Given the description of an element on the screen output the (x, y) to click on. 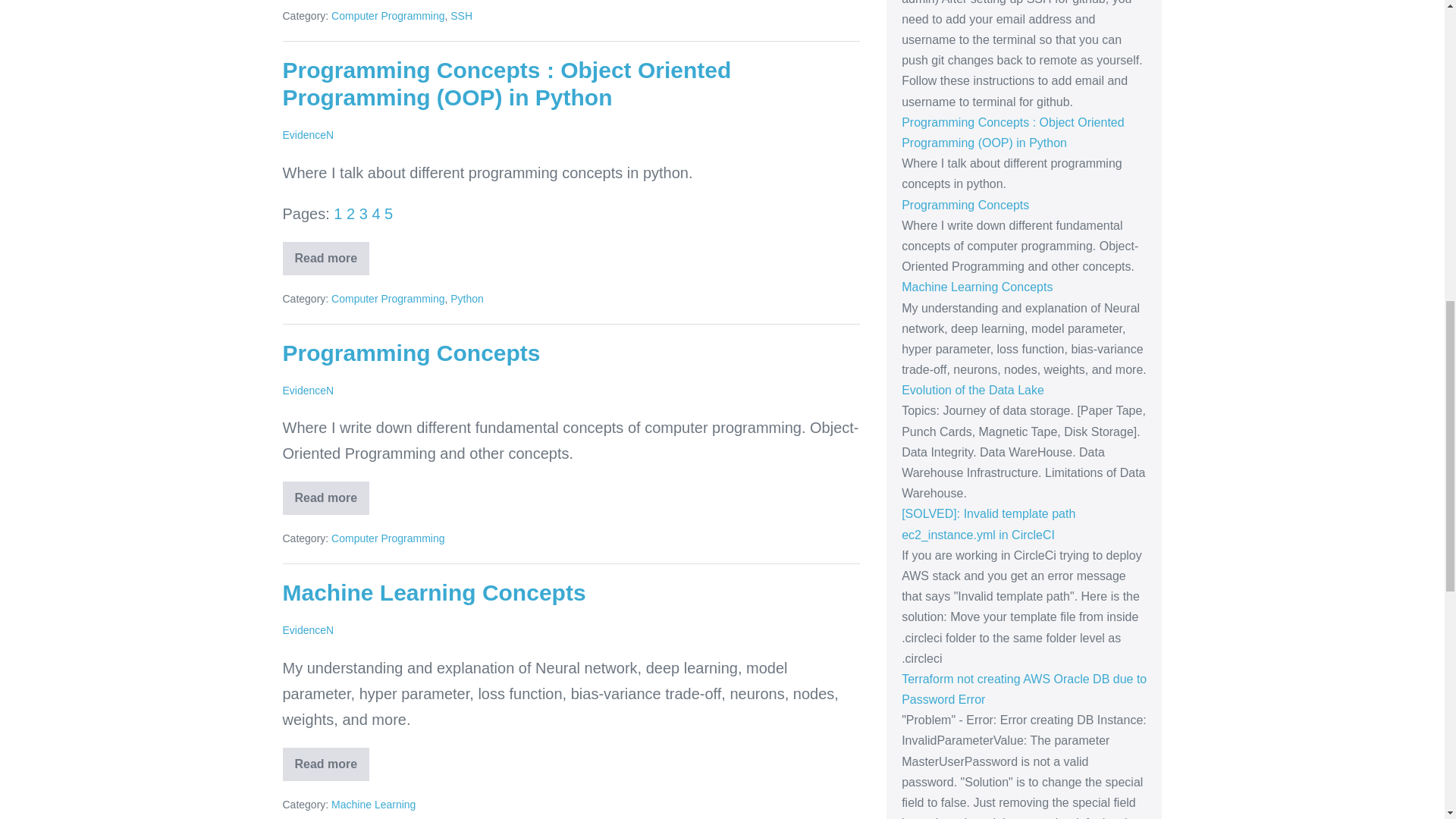
EvidenceN (307, 134)
Machine Learning Concepts (433, 592)
View all posts by EvidenceN (307, 134)
Computer Programming (387, 15)
Read more (325, 258)
View all posts by EvidenceN (307, 630)
Computer Programming (387, 298)
SSH (460, 15)
Programming Concepts (411, 352)
View all posts by EvidenceN (307, 390)
